Given the description of an element on the screen output the (x, y) to click on. 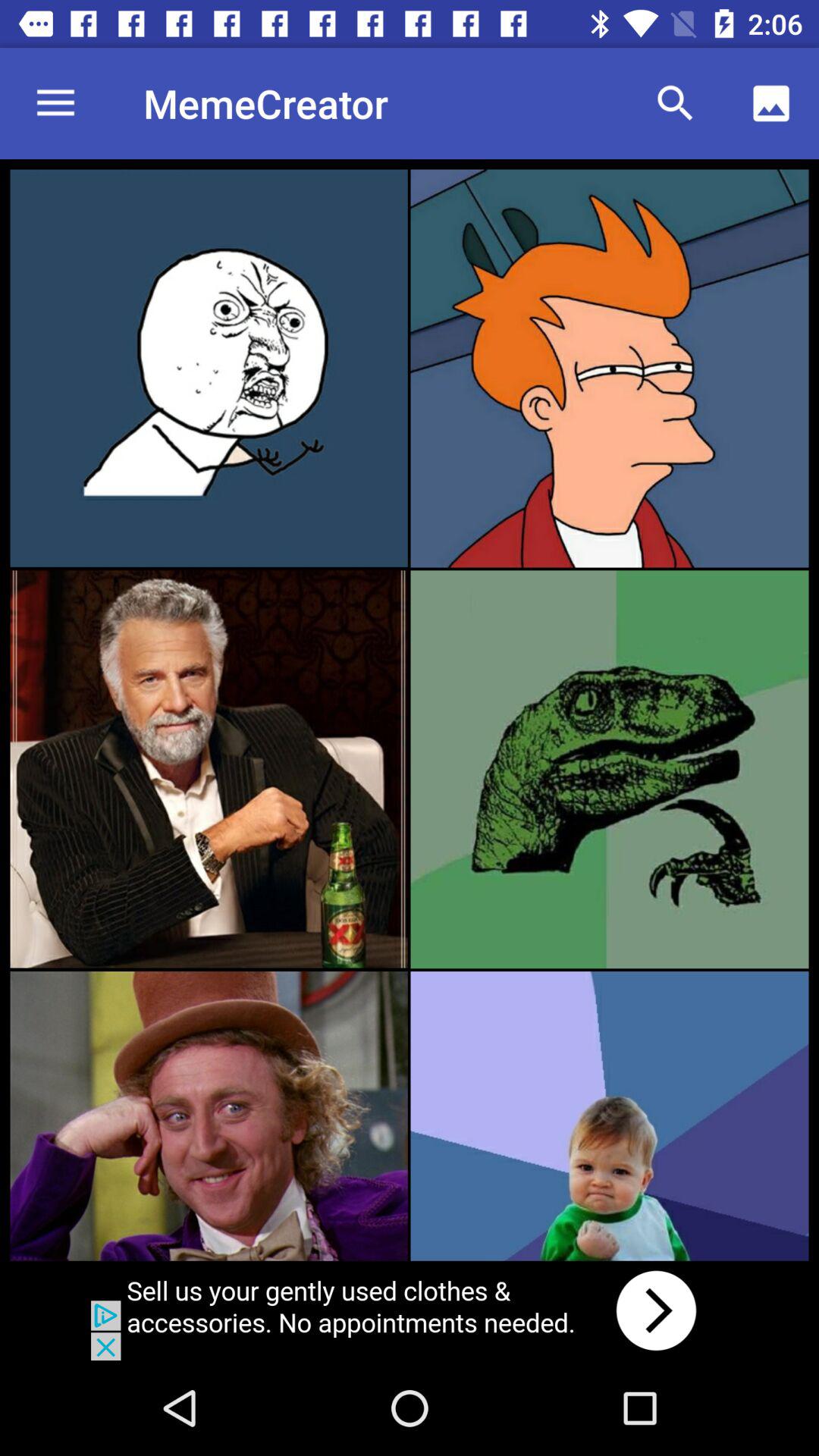
open meme (609, 1115)
